Given the description of an element on the screen output the (x, y) to click on. 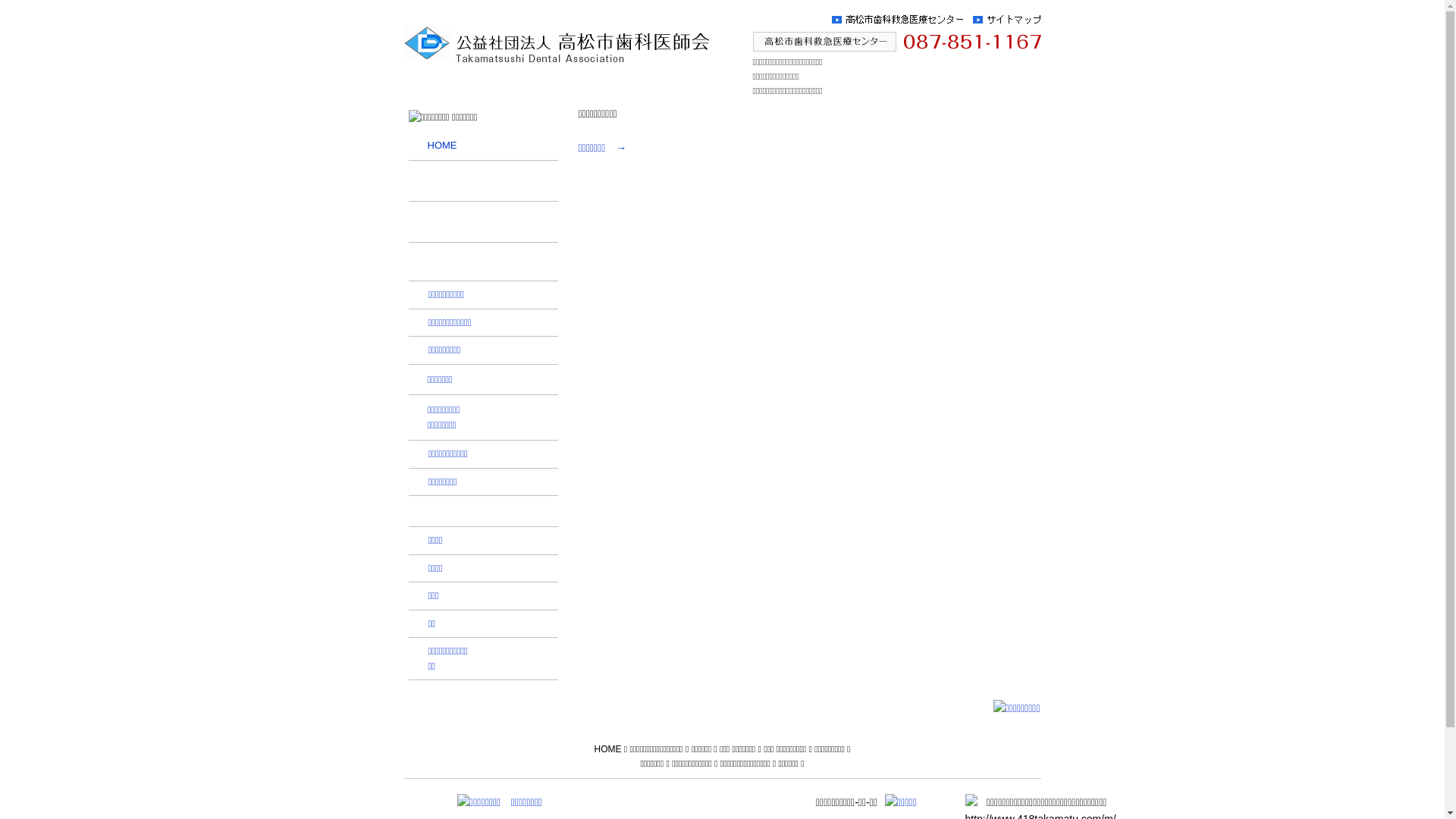
HOME Element type: text (482, 145)
HOME Element type: text (611, 748)
